Given the description of an element on the screen output the (x, y) to click on. 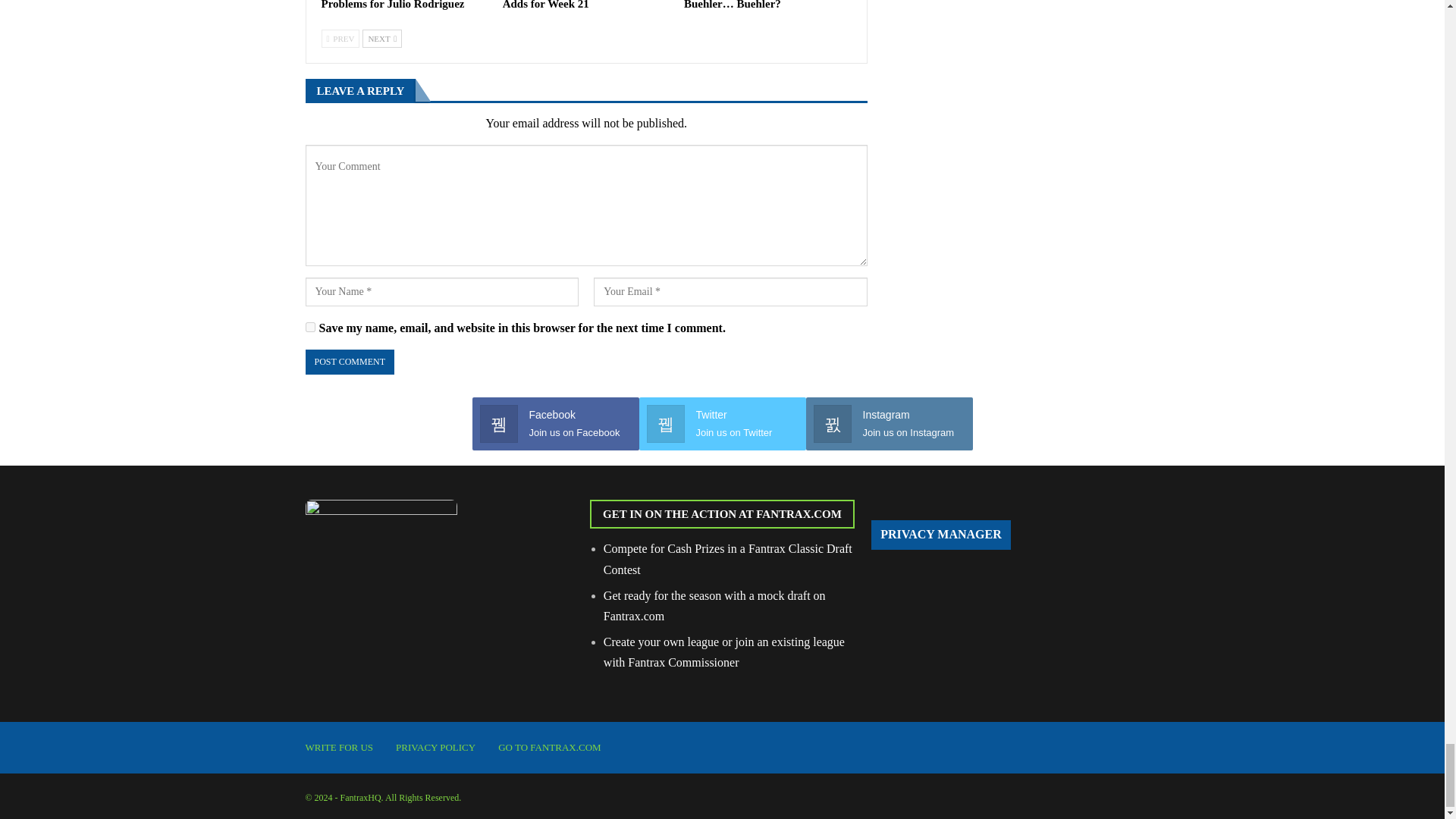
Fantasy Baseball Waiver Wire Adds for Week 21 (575, 4)
yes (309, 327)
Post Comment (348, 361)
MLB Injury Report: More Problems for Julio Rodriguez (392, 4)
